Given the description of an element on the screen output the (x, y) to click on. 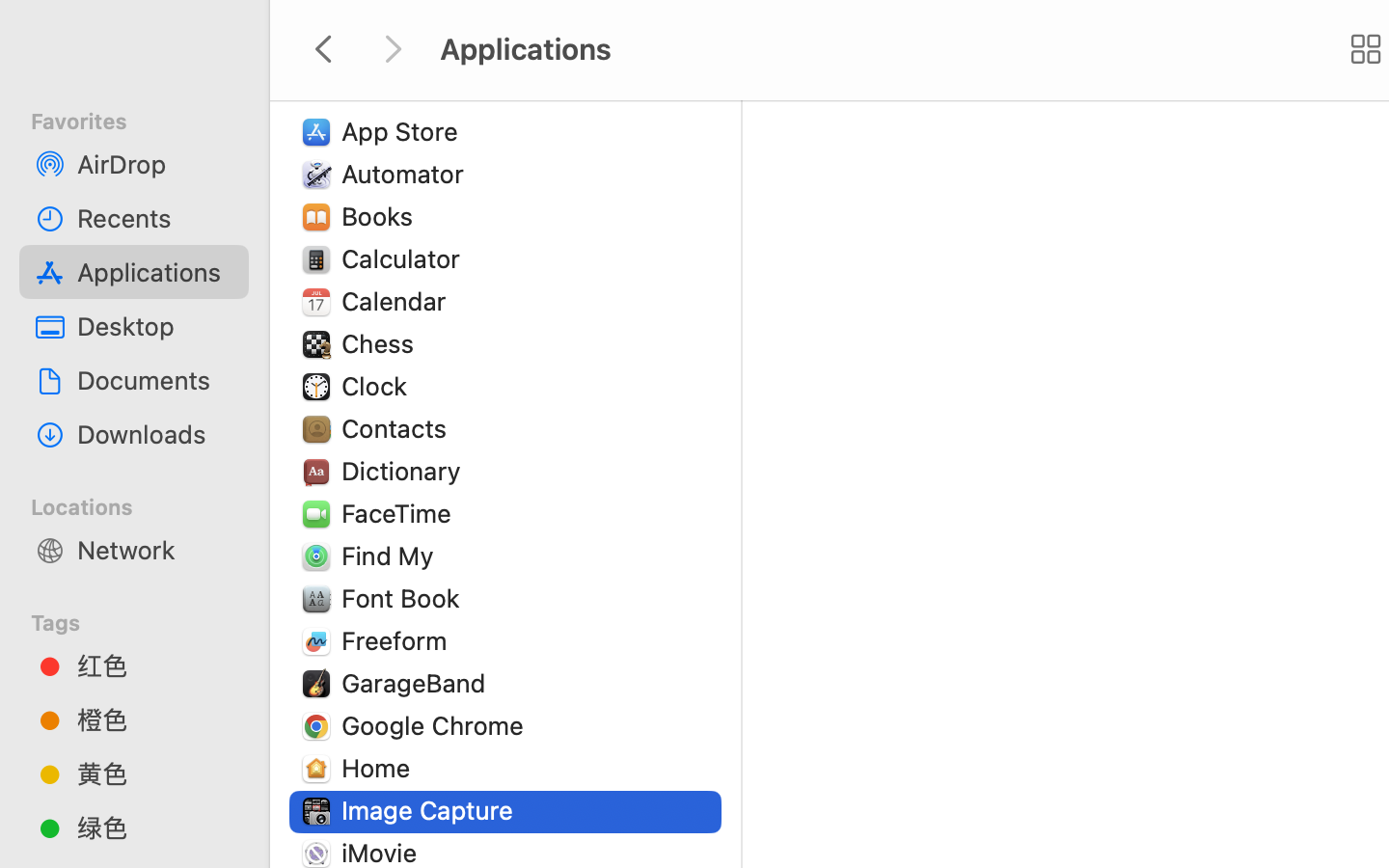
Recents Element type: AXStaticText (155, 217)
红色 Element type: AXStaticText (155, 665)
Favorites Element type: AXStaticText (145, 118)
Automator Element type: AXTextField (406, 173)
绿色 Element type: AXStaticText (155, 827)
